Given the description of an element on the screen output the (x, y) to click on. 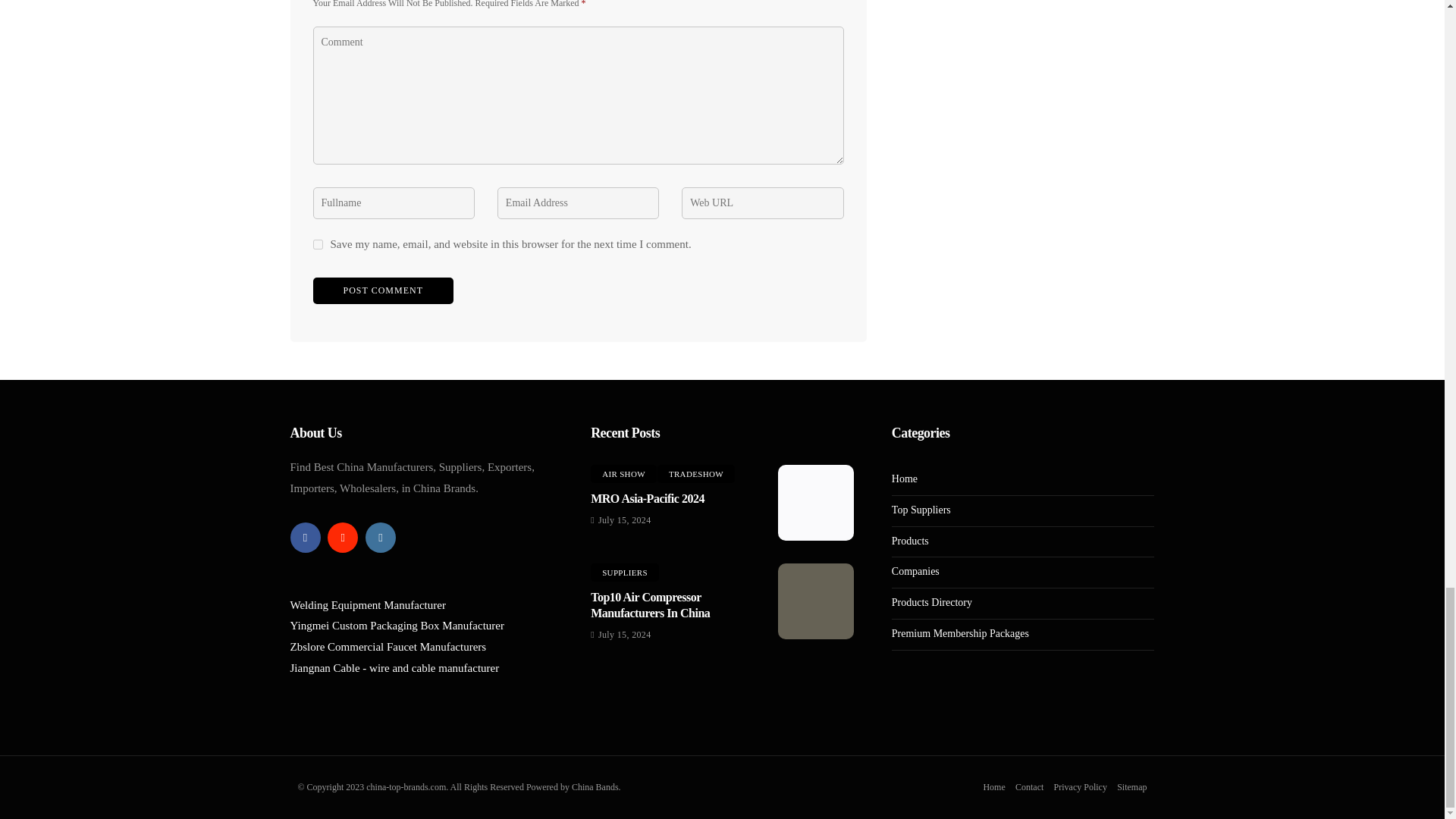
Post Comment (382, 290)
yes (317, 244)
